Given the description of an element on the screen output the (x, y) to click on. 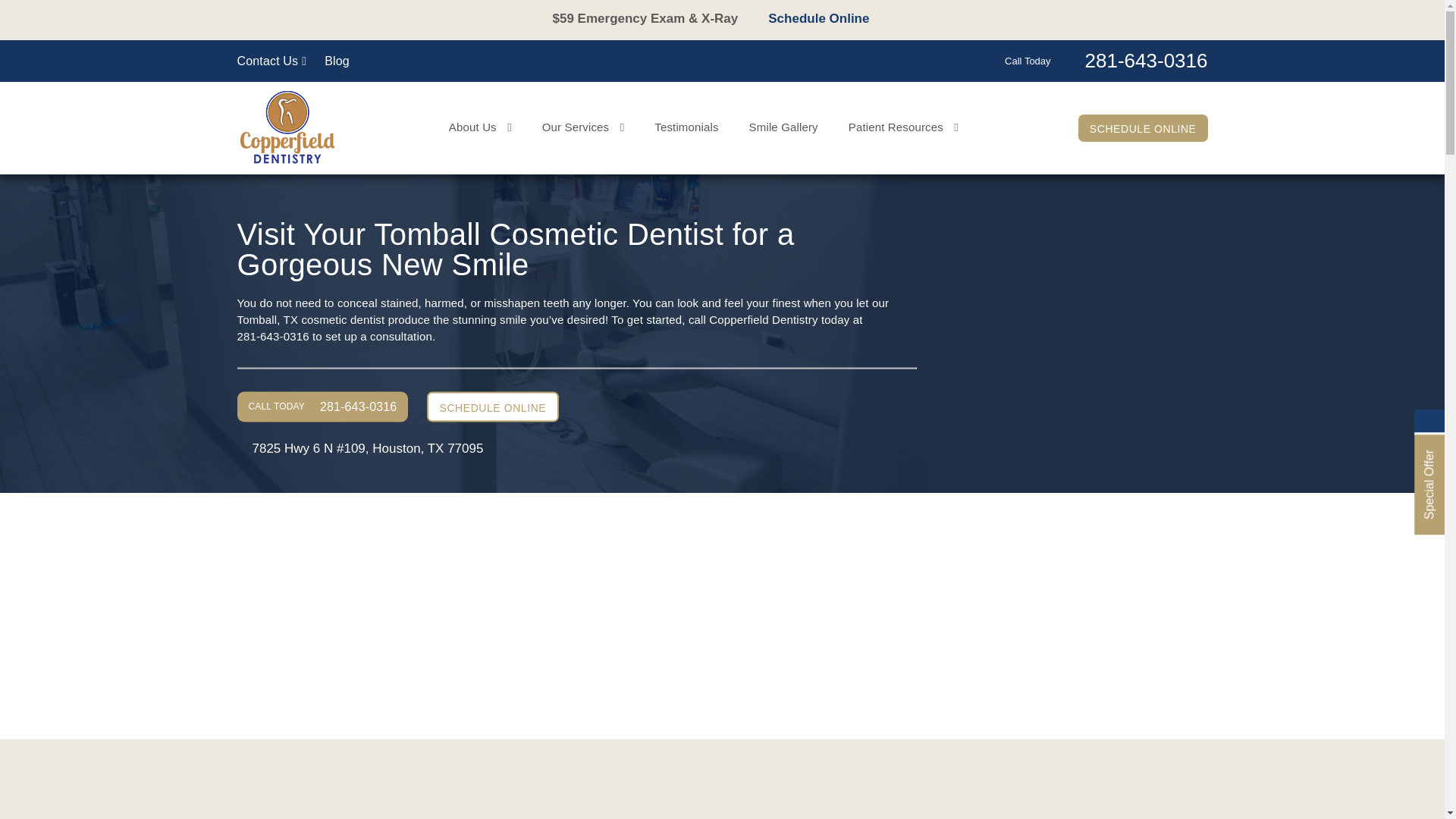
About Us (480, 126)
Our Services (582, 126)
Schedule Online (826, 33)
Schedule Online (829, 18)
Contact Us (270, 60)
Blog (336, 60)
Call Today281-643-0316 (1105, 59)
